Given the description of an element on the screen output the (x, y) to click on. 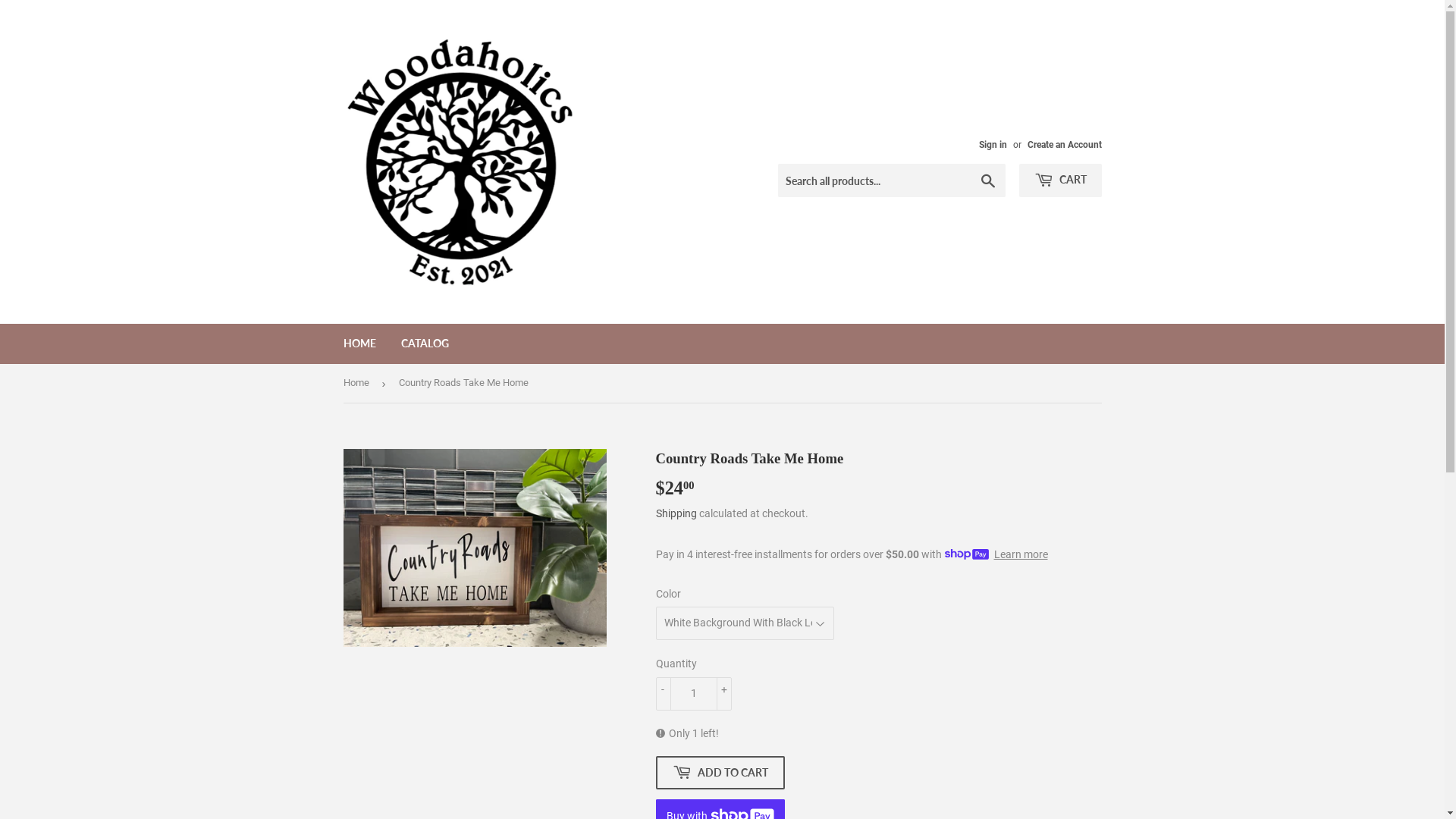
Search Element type: text (987, 181)
Shipping Element type: text (675, 513)
CART Element type: text (1060, 180)
Home Element type: text (357, 383)
CATALOG Element type: text (424, 343)
Create an Account Element type: text (1063, 144)
ADD TO CART Element type: text (719, 772)
HOME Element type: text (359, 343)
Sign in Element type: text (992, 144)
